Given the description of an element on the screen output the (x, y) to click on. 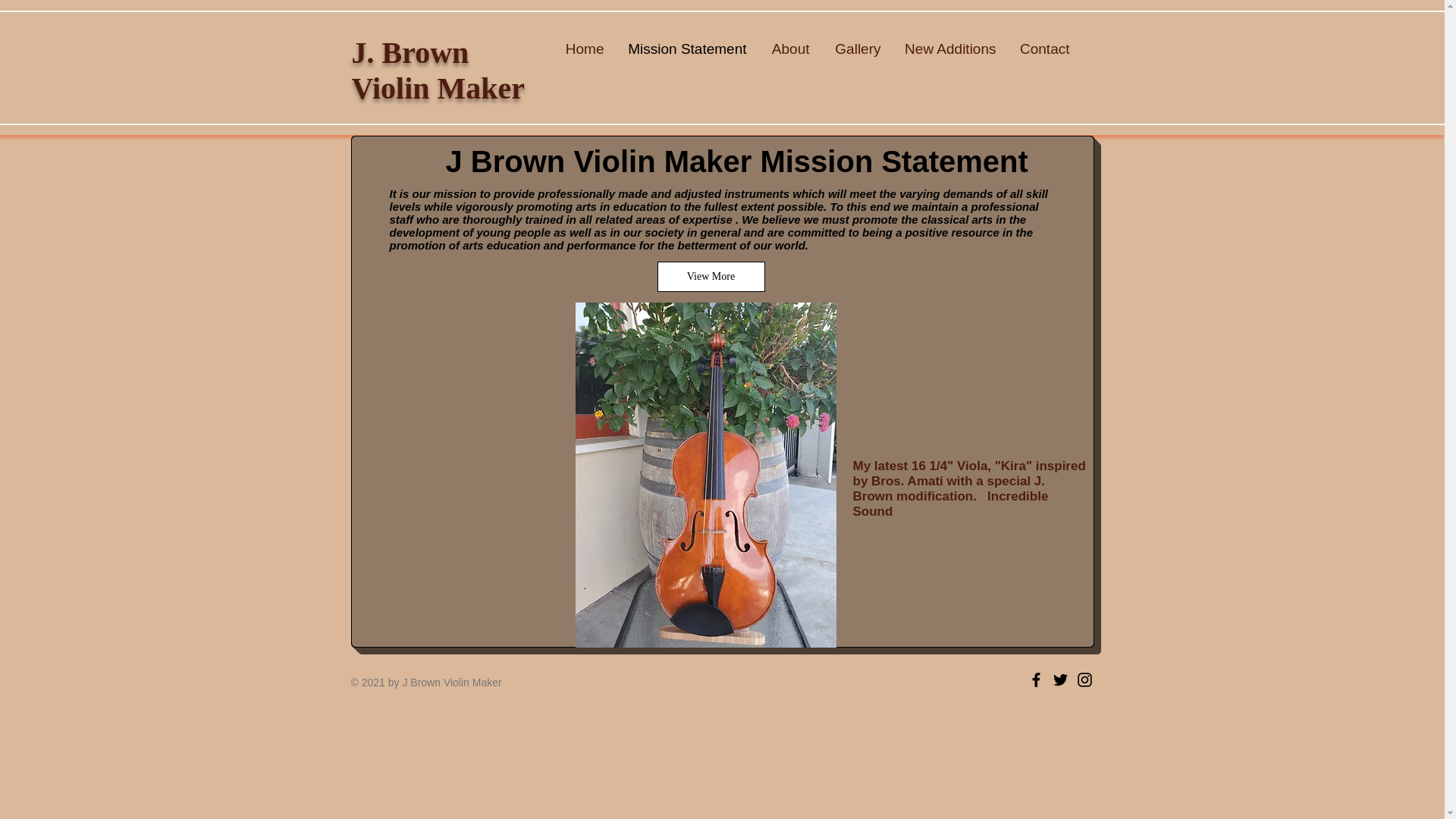
Mission Statement (686, 49)
View More (710, 276)
About (789, 49)
J. Brown Violin Maker (438, 70)
Contact (1043, 49)
New Additions (949, 49)
Gallery (856, 49)
Home (583, 49)
